Given the description of an element on the screen output the (x, y) to click on. 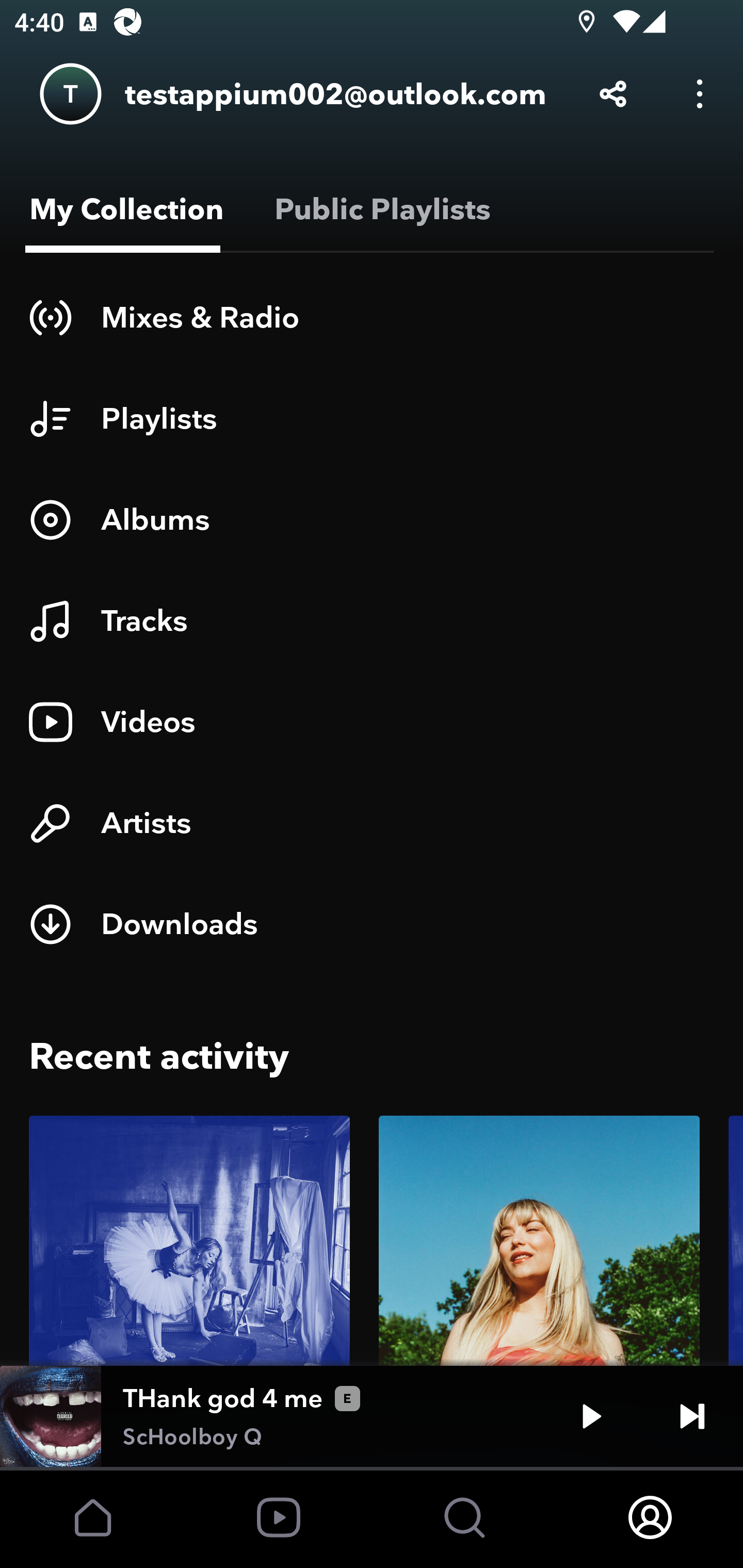
Share (612, 93)
Options (699, 93)
Public Playlists (378, 209)
Mixes & Radio (371, 317)
Playlists (371, 418)
Albums (371, 519)
Tracks (371, 620)
Videos (371, 722)
Artists (371, 823)
Downloads (371, 924)
THank god 4 me    ScHoolboy Q Play (371, 1416)
Play (590, 1416)
